Given the description of an element on the screen output the (x, y) to click on. 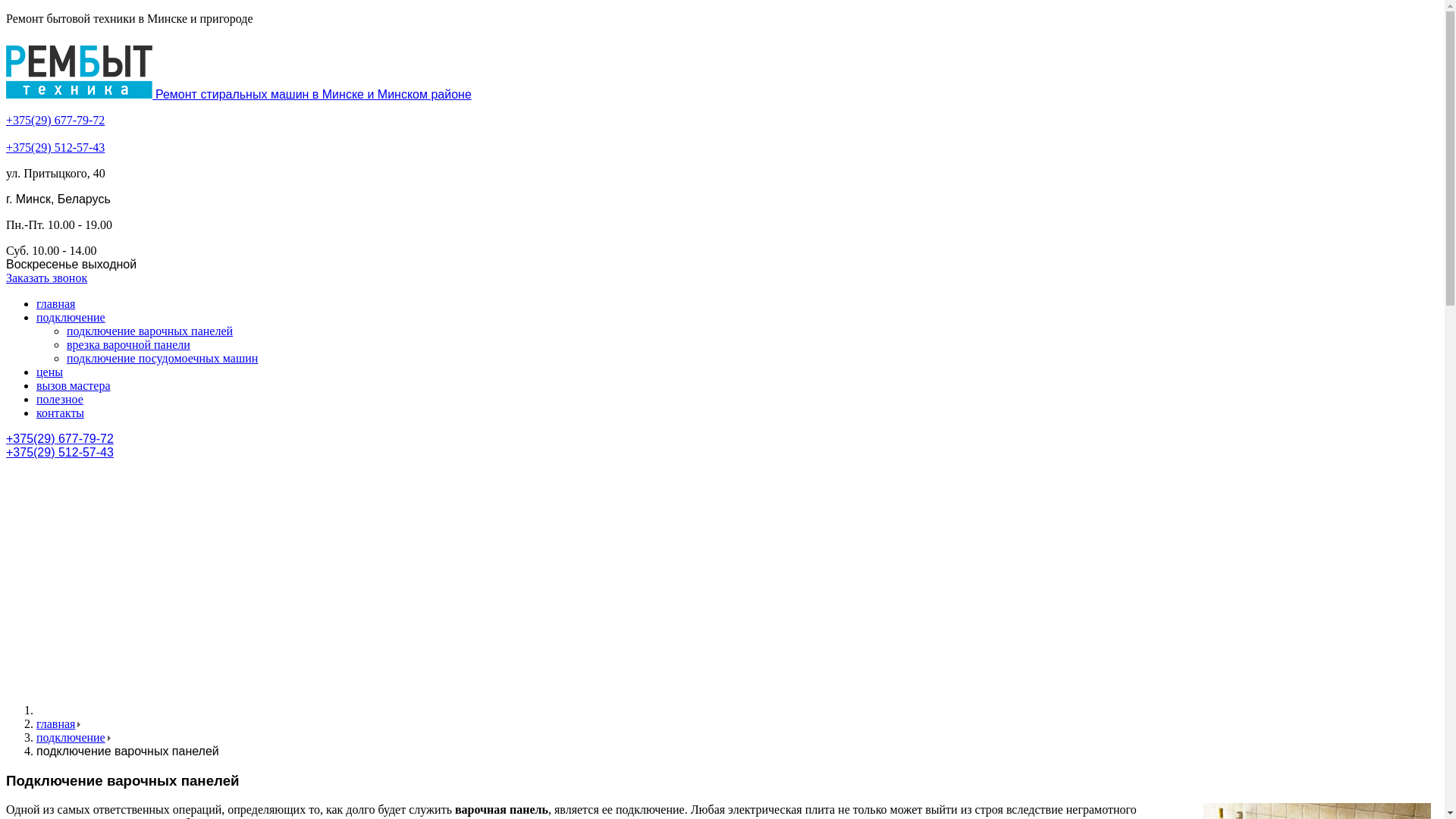
+375(29) 677-79-72 Element type: text (59, 438)
+375(29) 512-57-43 Element type: text (59, 451)
+375(29) 677-79-72 Element type: text (55, 119)
+375(29) 512-57-43 Element type: text (55, 147)
